Given the description of an element on the screen output the (x, y) to click on. 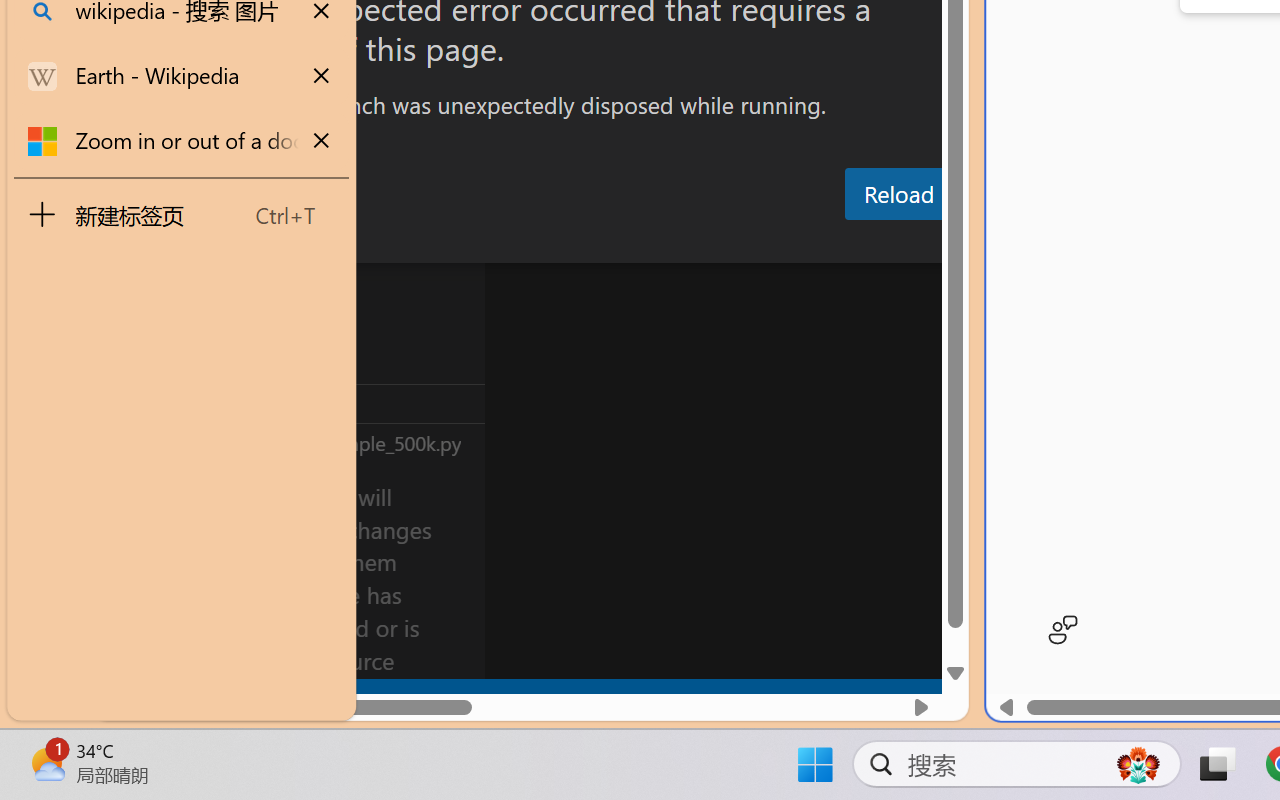
Debug Console (Ctrl+Shift+Y) (854, 243)
Terminal (Ctrl+`) (1021, 243)
Outline Section (331, 403)
Problems (Ctrl+Shift+M) (567, 243)
Output (Ctrl+Shift+U) (696, 243)
Accounts - Sign in requested (135, 548)
Timeline Section (331, 442)
remote (122, 698)
